Given the description of an element on the screen output the (x, y) to click on. 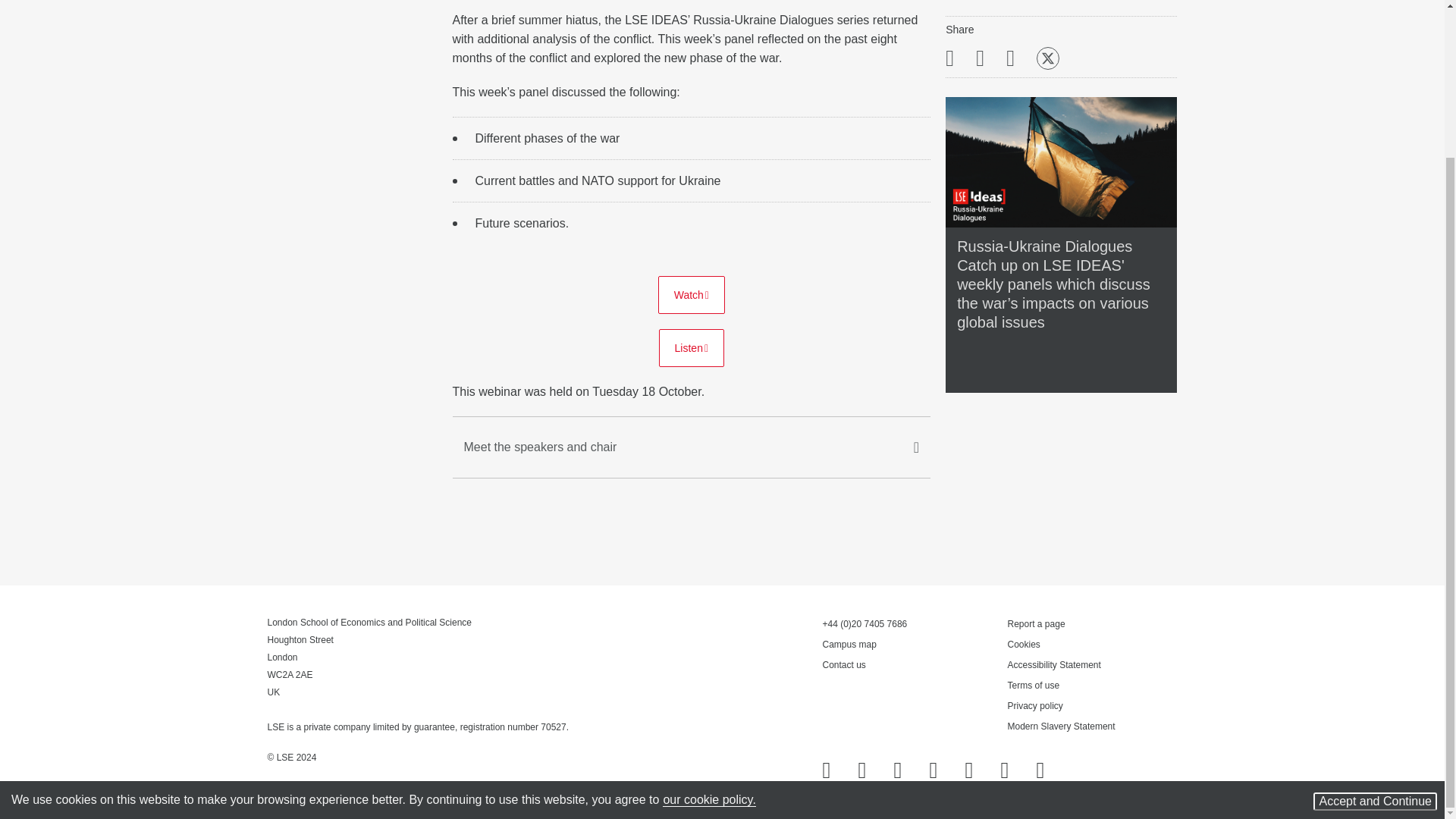
our cookie policy. (708, 615)
Accept and Continue (1375, 617)
